Given the description of an element on the screen output the (x, y) to click on. 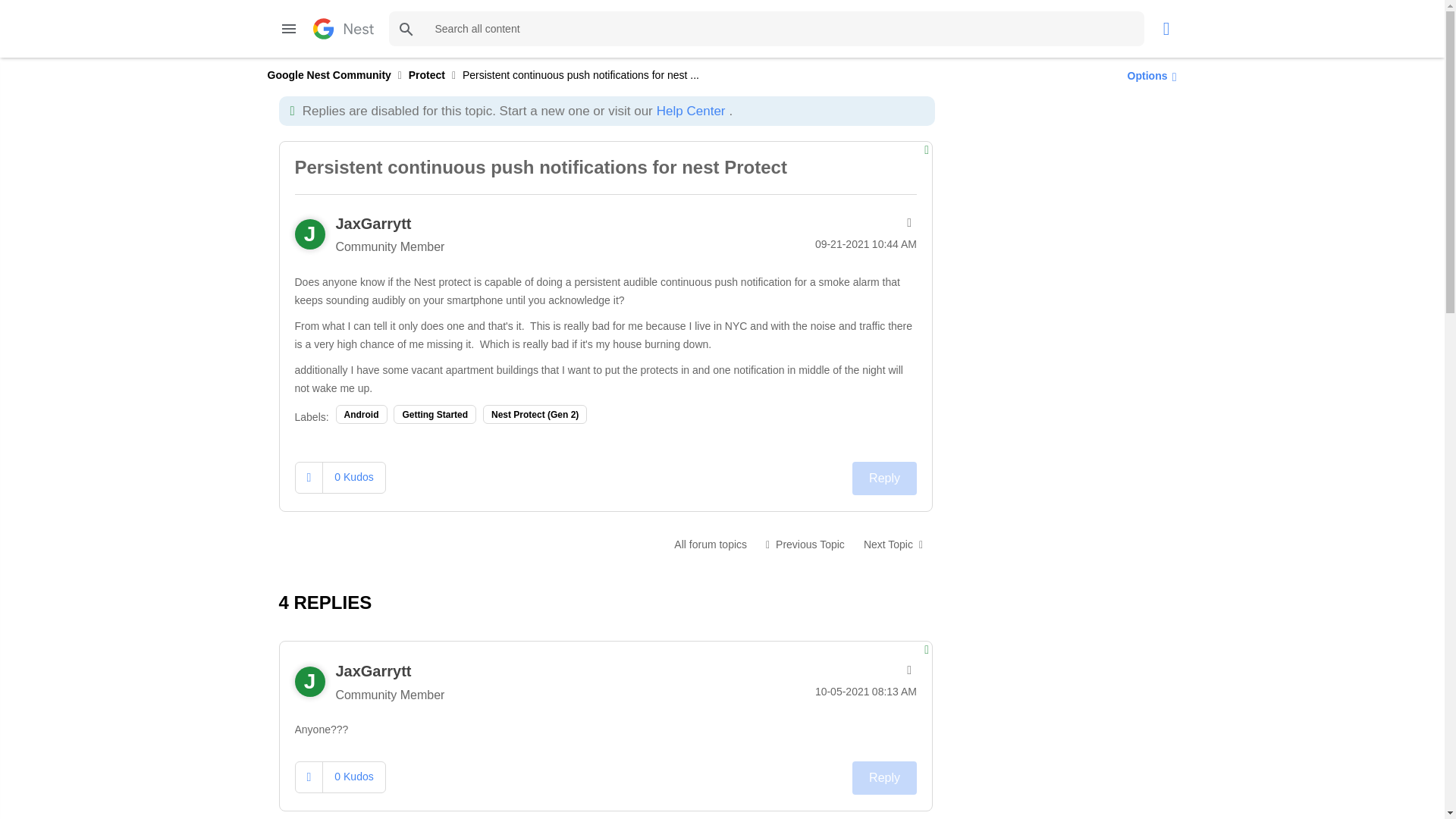
Google Nest Community (342, 28)
Getting Started (434, 414)
Nest Protect (710, 543)
Search (405, 29)
Wired NP Chiming and Saying Hello (804, 543)
Protect (427, 74)
Click here to give kudos to this post. (309, 776)
Menu (287, 28)
Search (405, 29)
offline (893, 543)
